Given the description of an element on the screen output the (x, y) to click on. 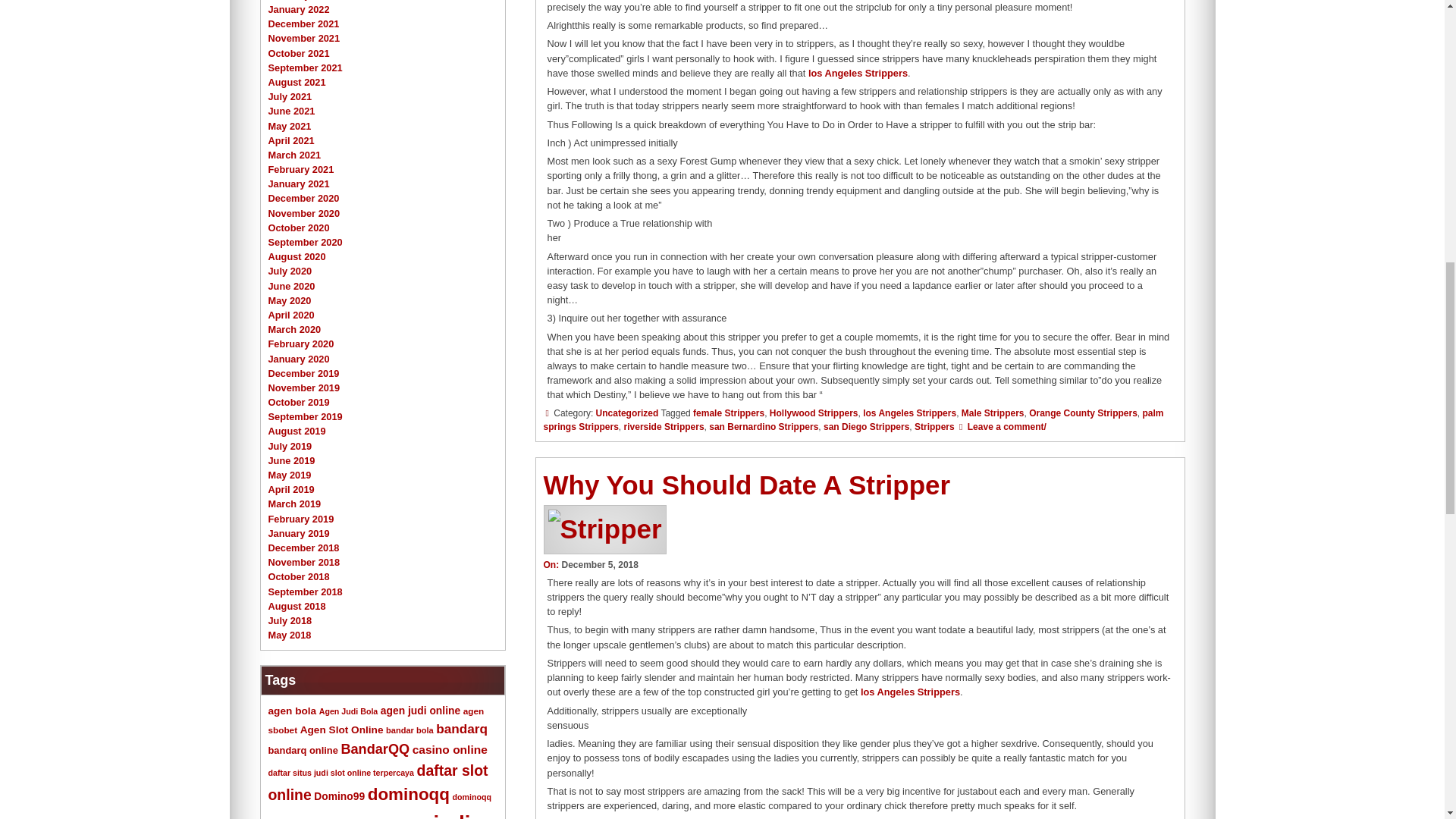
Orange County Strippers (1083, 412)
December 5, 2018 (598, 564)
san Bernardino Strippers (763, 426)
los Angeles Strippers (857, 72)
los Angeles Strippers (909, 412)
Hollywood Strippers (814, 412)
Strippers (934, 426)
palm springs Strippers (853, 419)
san Diego Strippers (866, 426)
female Strippers (728, 412)
Why You Should Date A Stripper (746, 484)
riverside Strippers (664, 426)
Uncategorized (627, 412)
Male Strippers (992, 412)
